Given the description of an element on the screen output the (x, y) to click on. 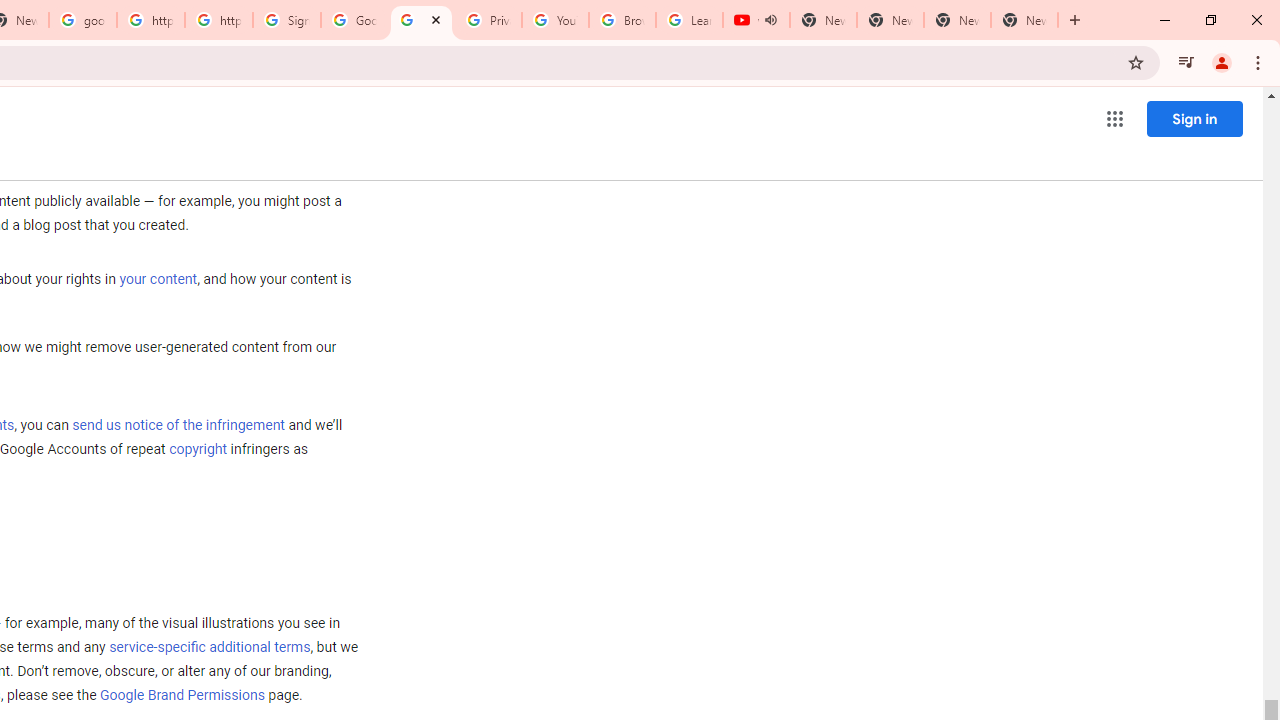
https://scholar.google.com/ (150, 20)
send us notice of the infringement (178, 425)
service-specific additional terms (209, 647)
your content (158, 279)
Google Brand Permissions (181, 695)
